Given the description of an element on the screen output the (x, y) to click on. 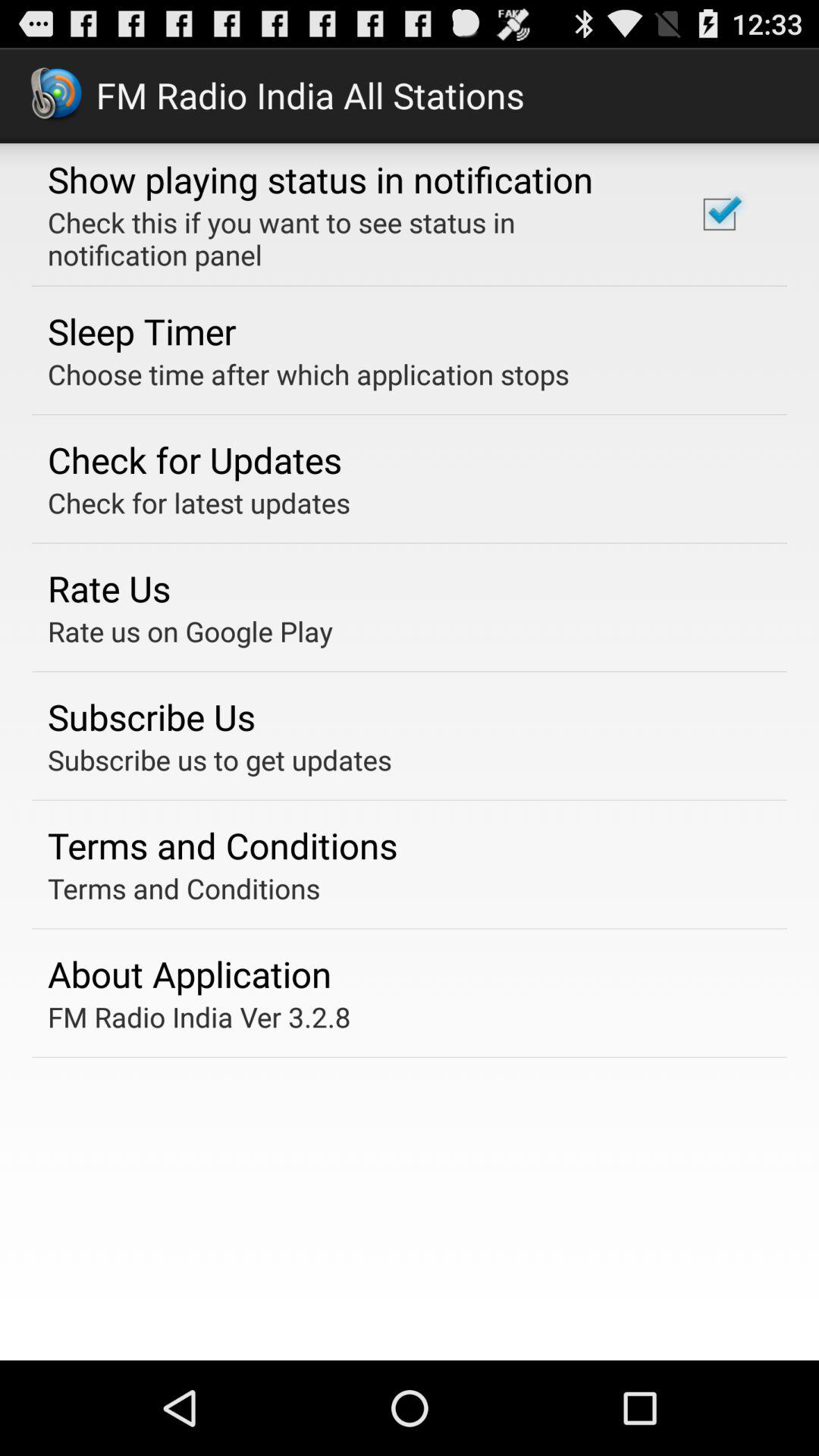
turn on the show playing status item (320, 179)
